Given the description of an element on the screen output the (x, y) to click on. 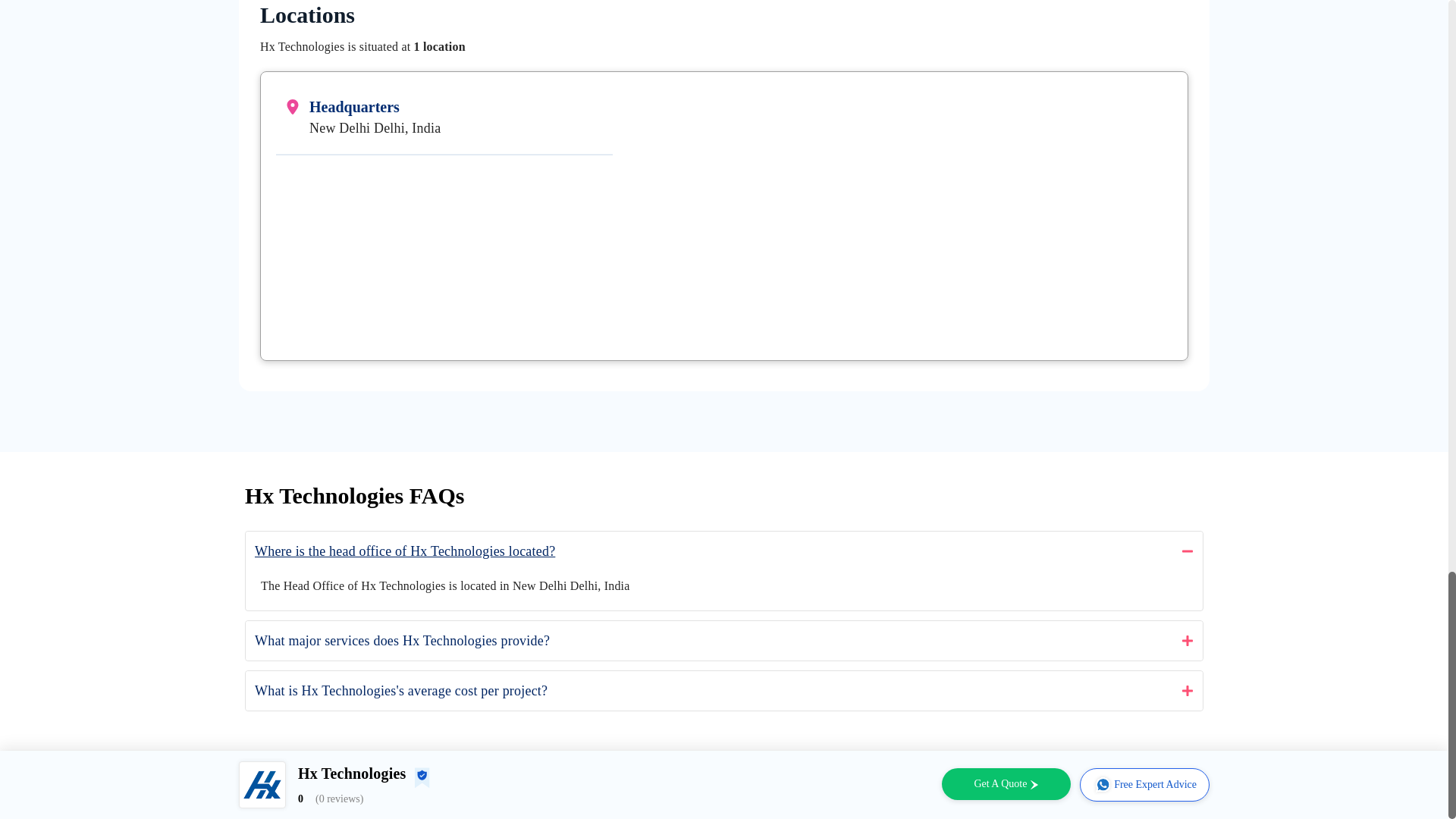
Free Expert Advice (1144, 784)
Get A Quote (1006, 784)
